Given the description of an element on the screen output the (x, y) to click on. 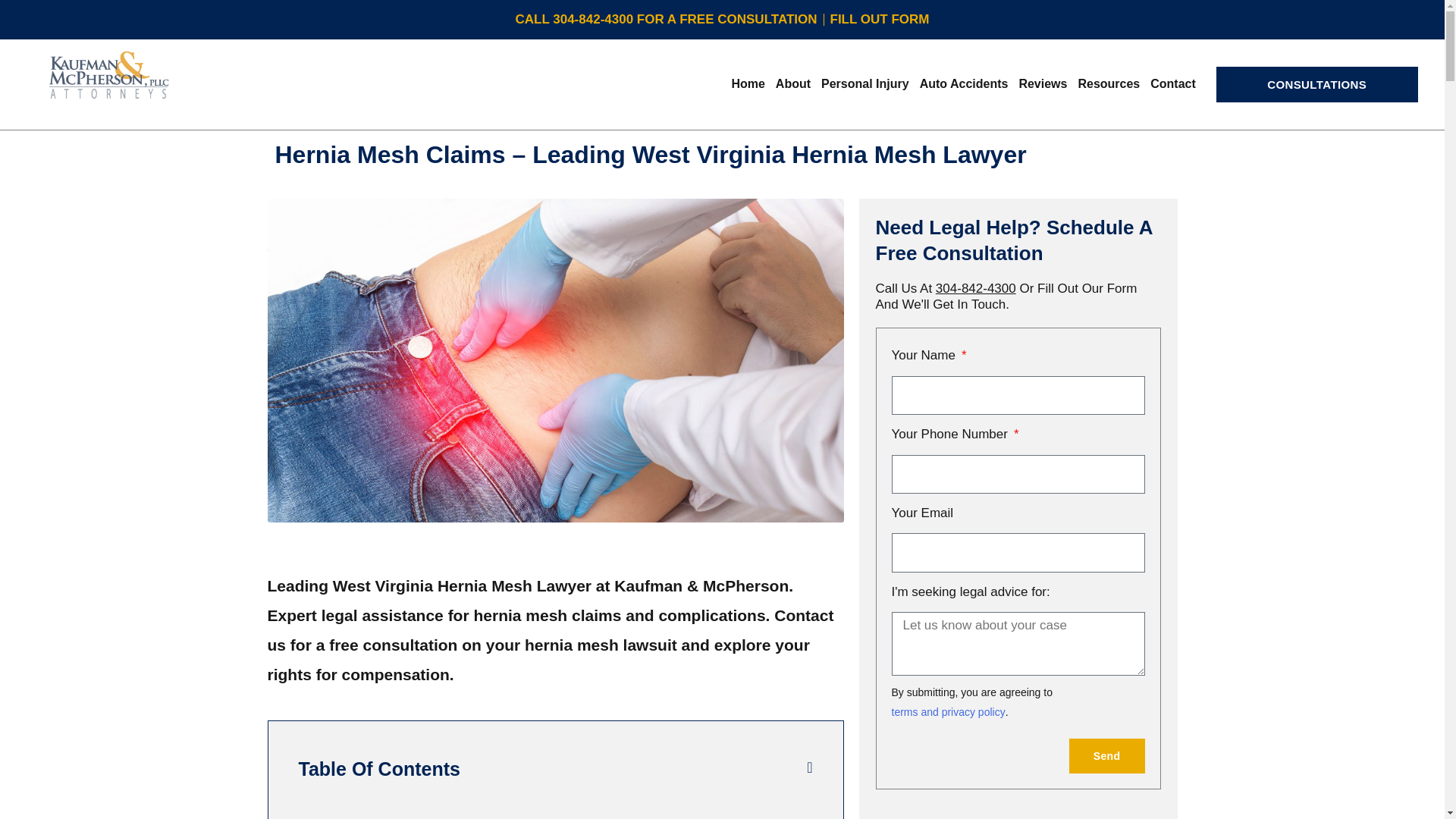
Reviews (1042, 84)
Home (747, 84)
Auto Accidents (963, 84)
CALL 304-842-4300 FOR A FREE CONSULTATION (665, 19)
Personal Injury (864, 84)
About (792, 84)
FILL OUT FORM (879, 19)
Resources (1107, 84)
